Given the description of an element on the screen output the (x, y) to click on. 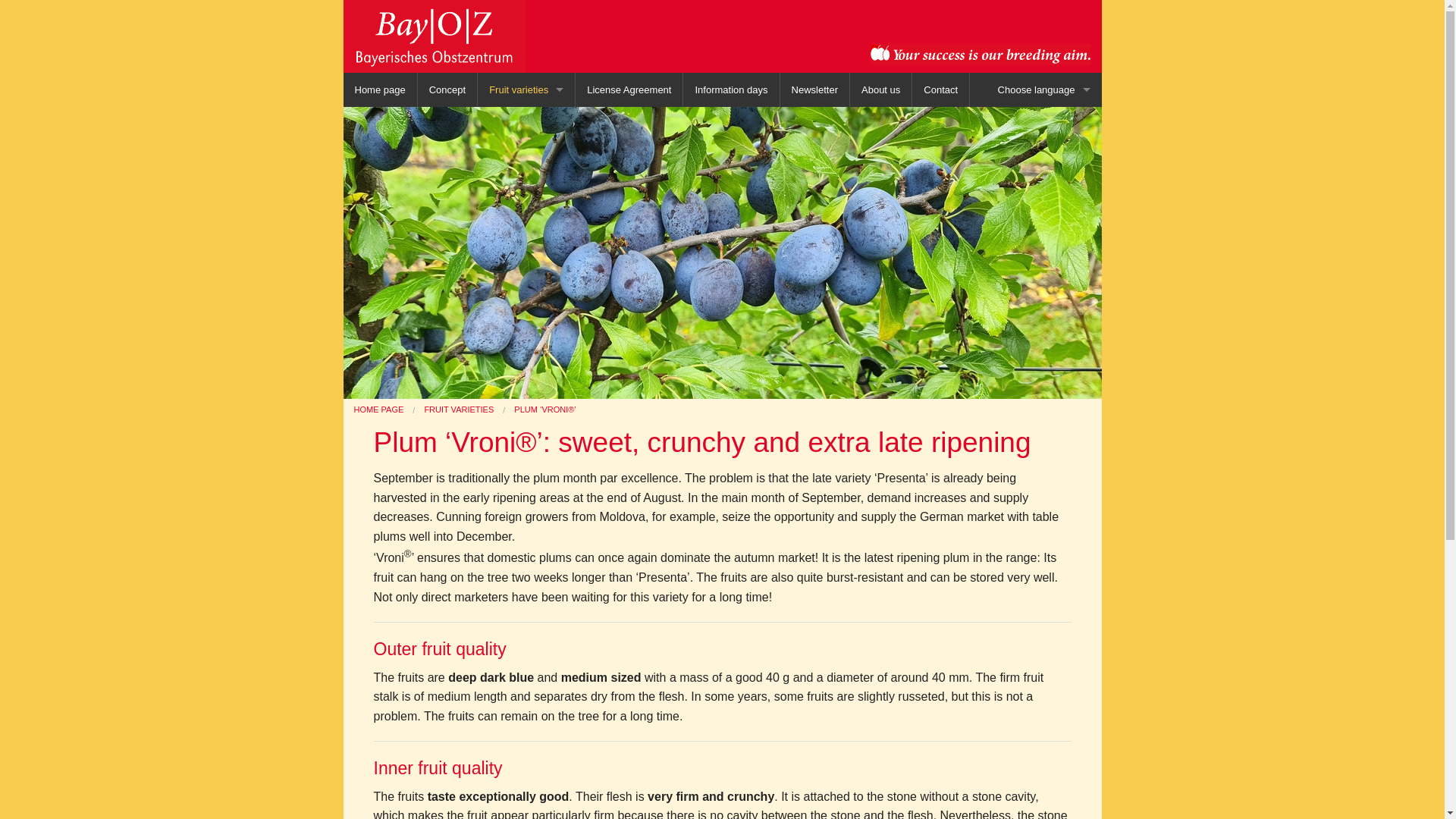
English (1044, 157)
Fruit varieties (526, 89)
Contact (940, 89)
Information days (730, 89)
Zur Startseite (433, 34)
License Agreement (628, 89)
Newsletter (814, 89)
HOME PAGE (378, 409)
Concept (447, 89)
FRUIT VARIETIES (458, 409)
